Given the description of an element on the screen output the (x, y) to click on. 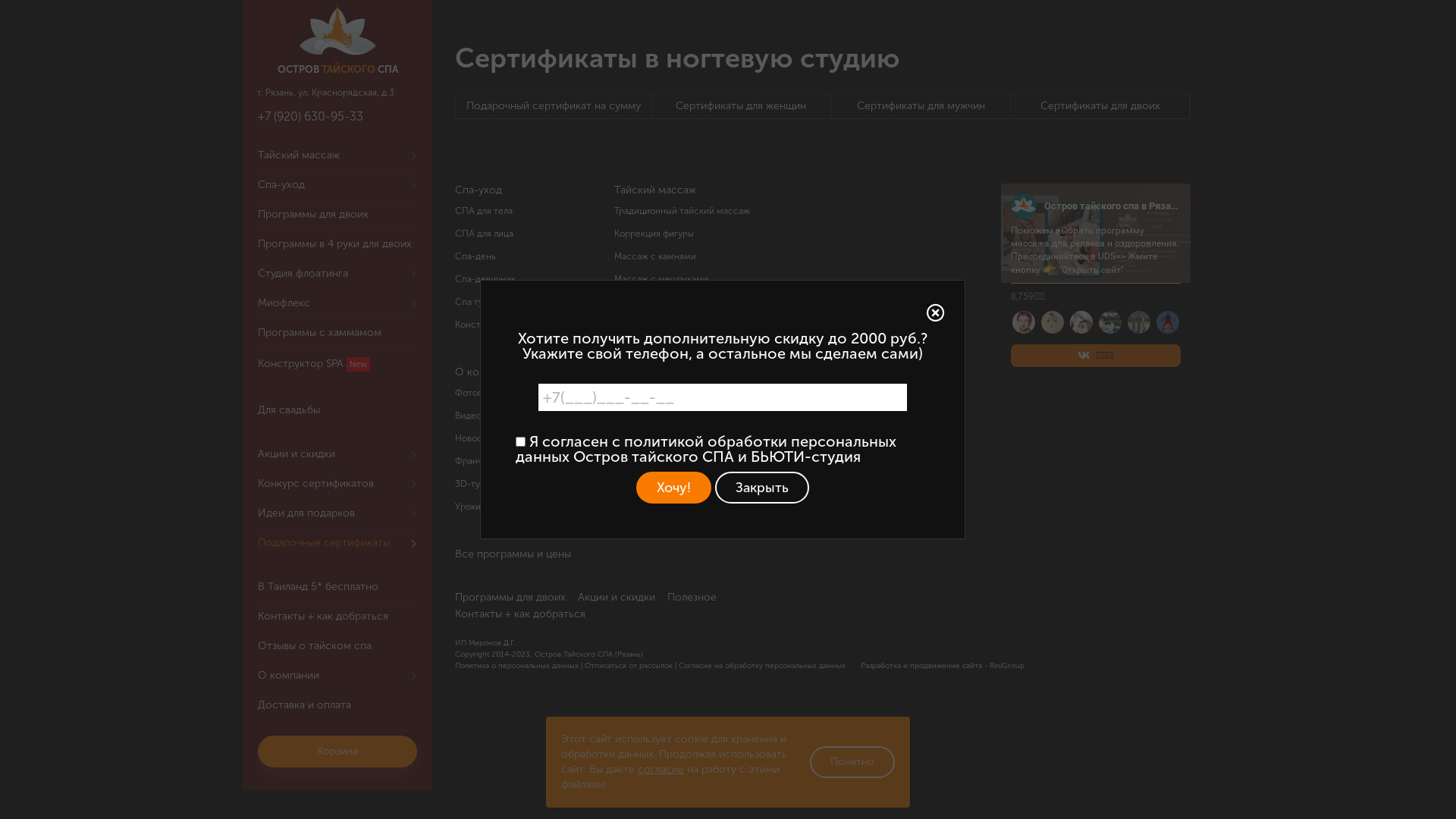
+7 (920) 630-95-33 Element type: text (310, 116)
